Given the description of an element on the screen output the (x, y) to click on. 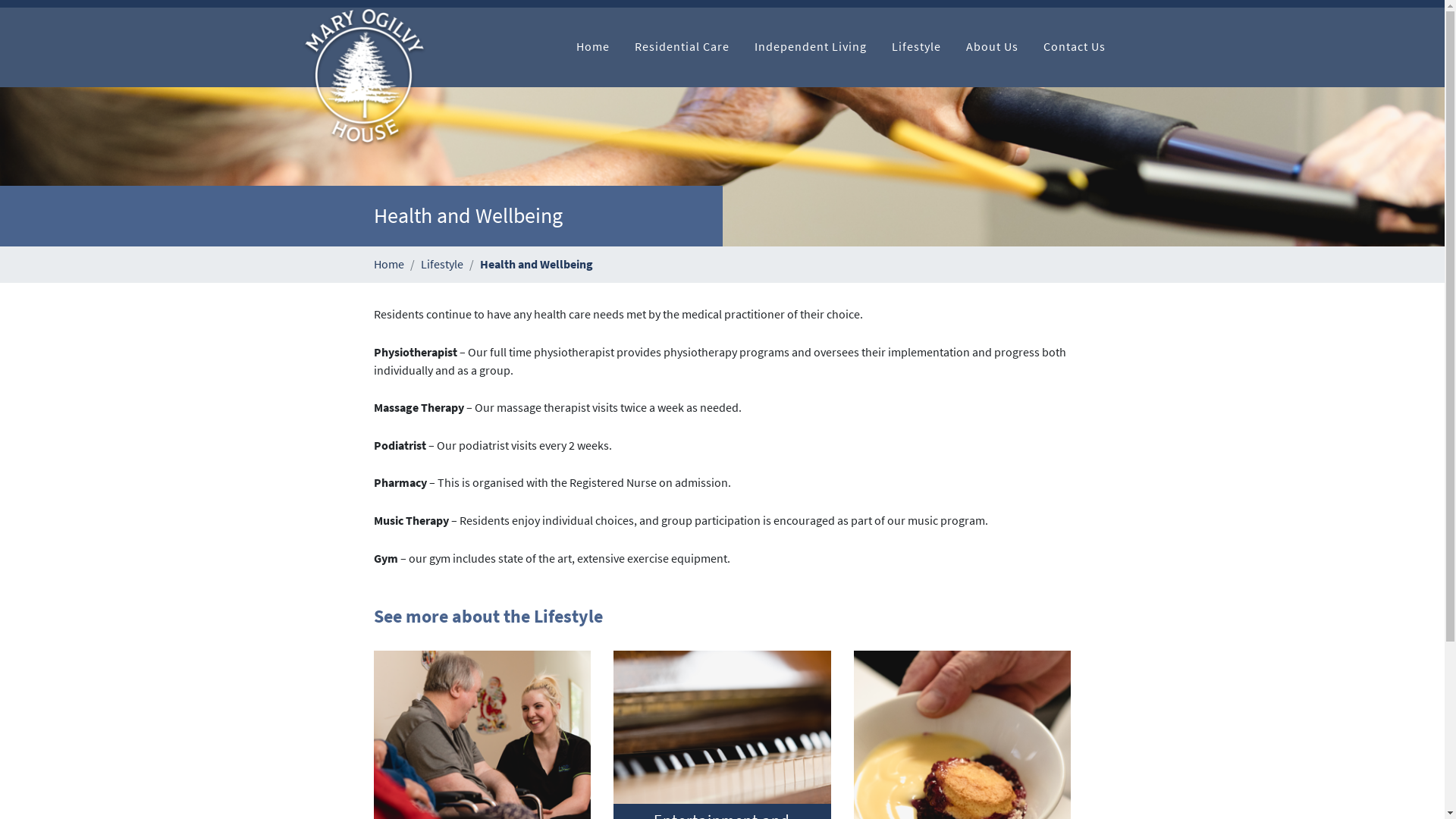
Contact Us Element type: text (1073, 46)
Lifestyle Element type: text (441, 264)
Lifestyle Element type: text (915, 46)
About Us Element type: text (991, 46)
Independent Living Element type: text (810, 46)
Residential Care Element type: text (681, 46)
Home Element type: text (592, 46)
Home Element type: text (388, 264)
Start Search Element type: text (1132, 49)
